Given the description of an element on the screen output the (x, y) to click on. 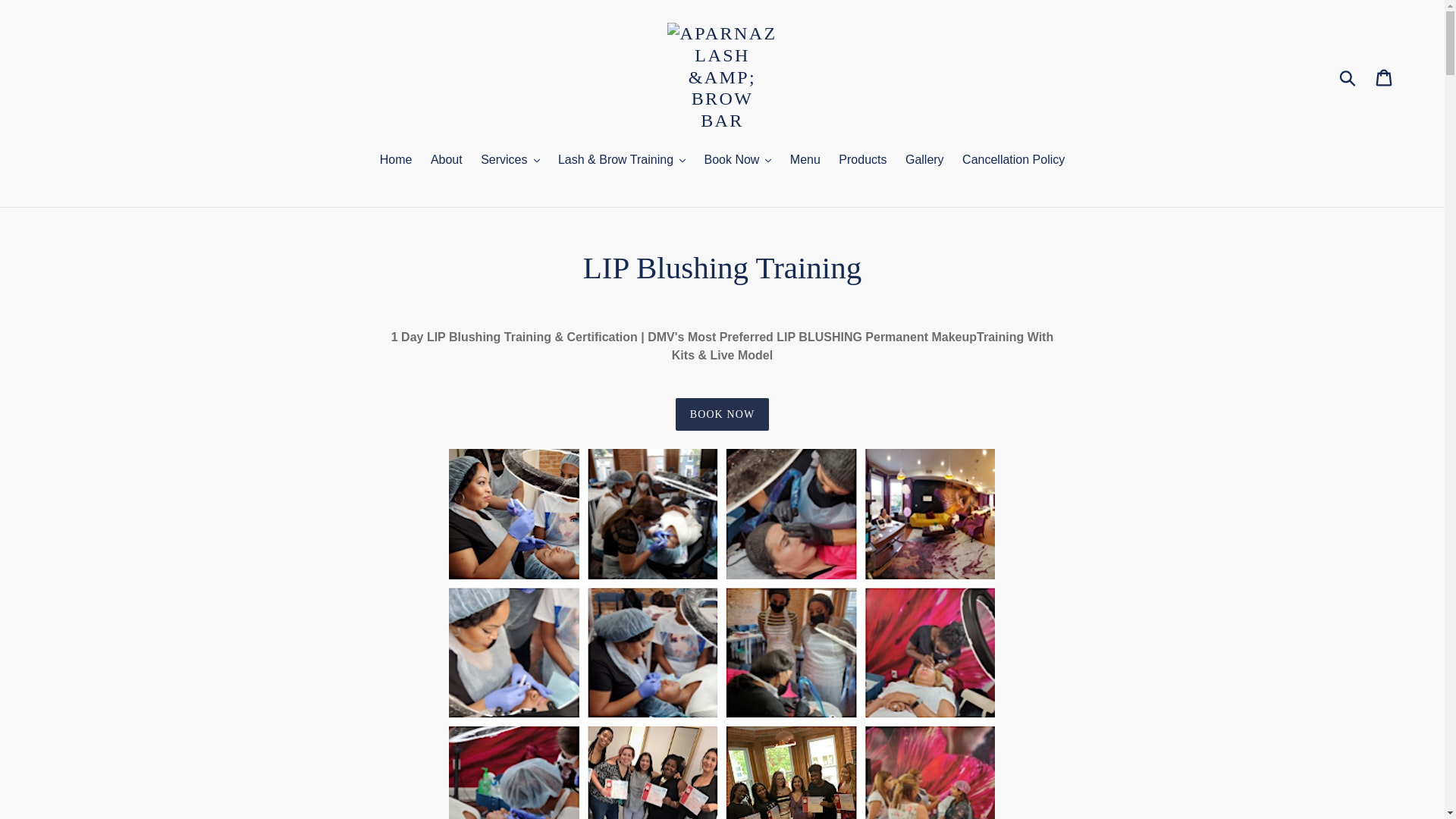
Submit (1348, 77)
Cart (1385, 77)
Home (396, 160)
